Given the description of an element on the screen output the (x, y) to click on. 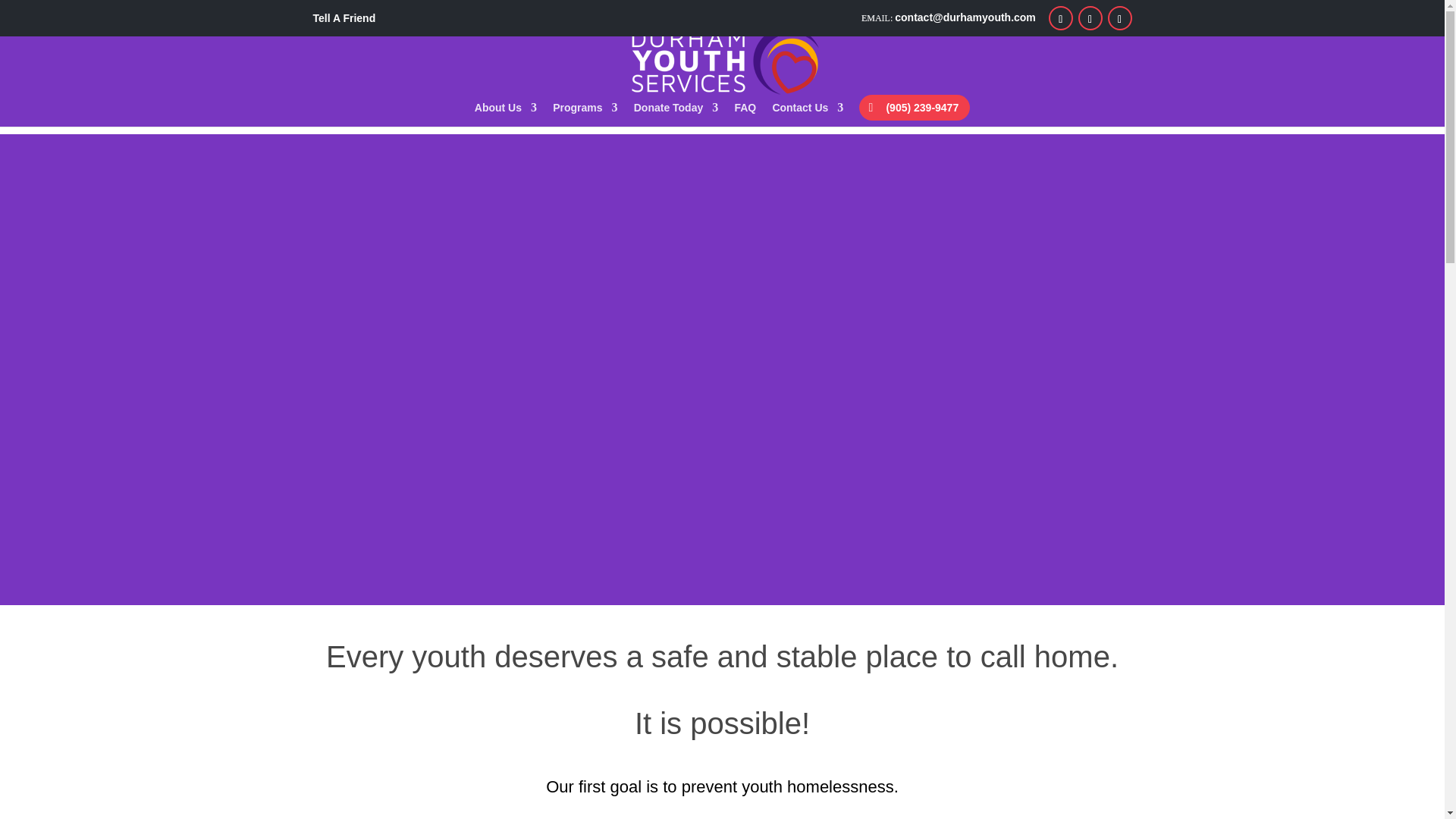
FAQ (744, 114)
Contact Us (807, 114)
Donate Today (676, 114)
Programs (585, 114)
About Us (505, 114)
Tell A Friend (344, 18)
